Given the description of an element on the screen output the (x, y) to click on. 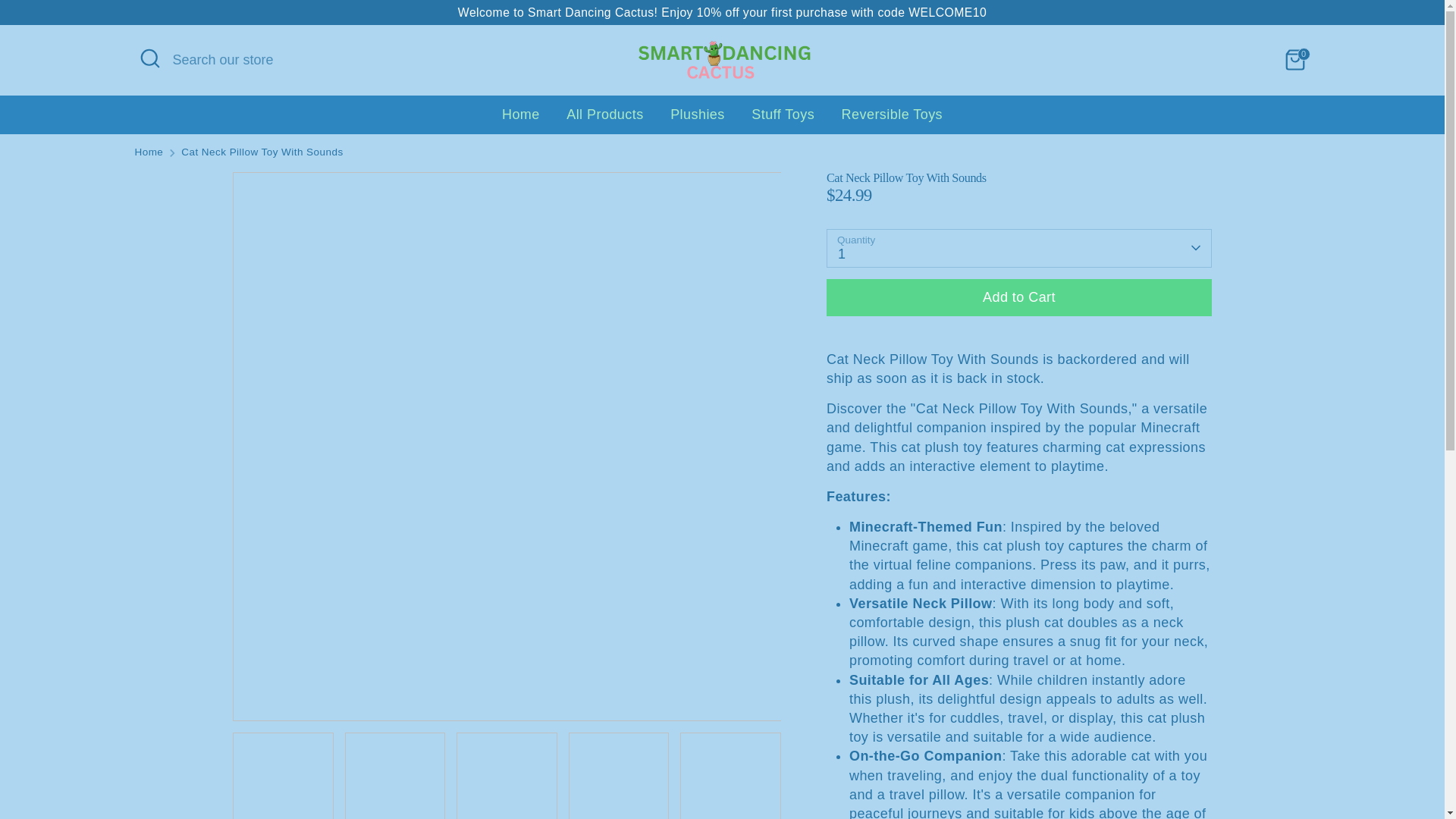
Stuff Toys (782, 119)
Mastercard (1233, 770)
Diners Club (1142, 770)
Discover (1173, 770)
JCB (1203, 770)
Home (149, 152)
All Products (603, 119)
0 (1294, 60)
Home (520, 119)
Visa (1293, 770)
Plushies (697, 119)
PayPal (1263, 770)
Reversible Toys (891, 119)
American Express (1111, 770)
Cat Neck Pillow Toy With Sounds (261, 152)
